Given the description of an element on the screen output the (x, y) to click on. 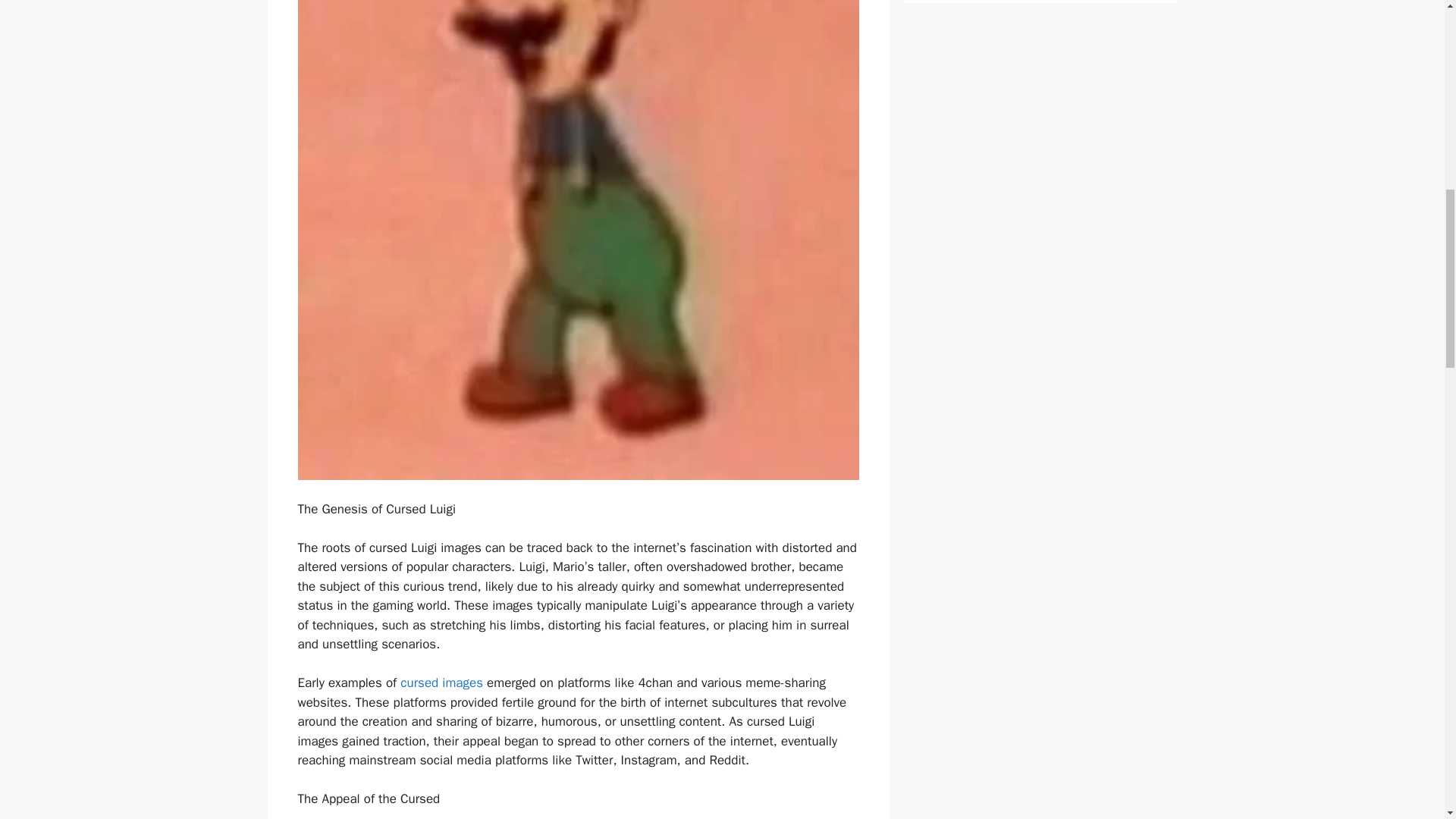
cursed images (443, 682)
